Given the description of an element on the screen output the (x, y) to click on. 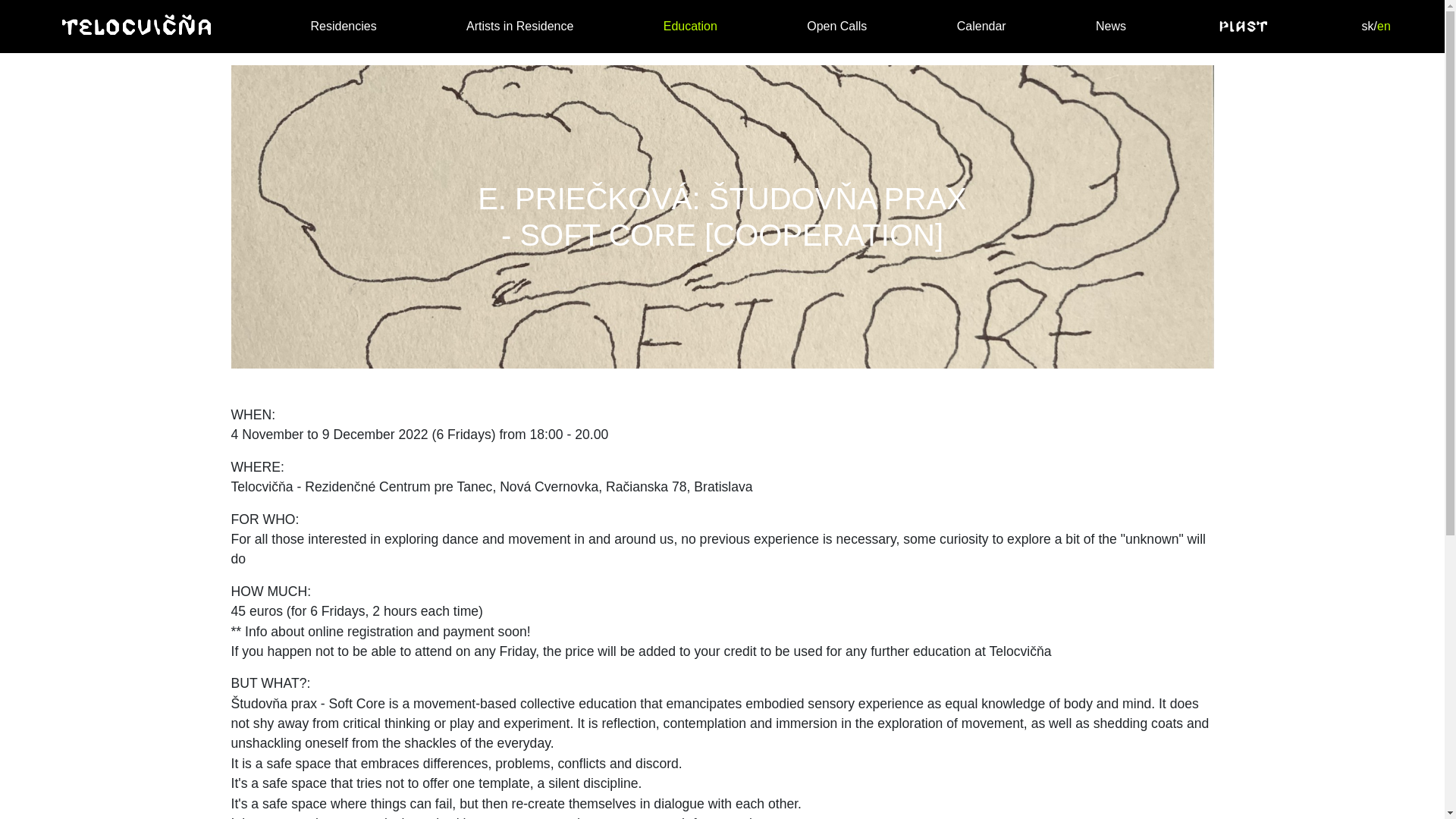
News (1110, 25)
Artists in Residence (519, 25)
Calendar (981, 25)
Open Calls (836, 25)
Residencies (342, 25)
Education (690, 25)
